Given the description of an element on the screen output the (x, y) to click on. 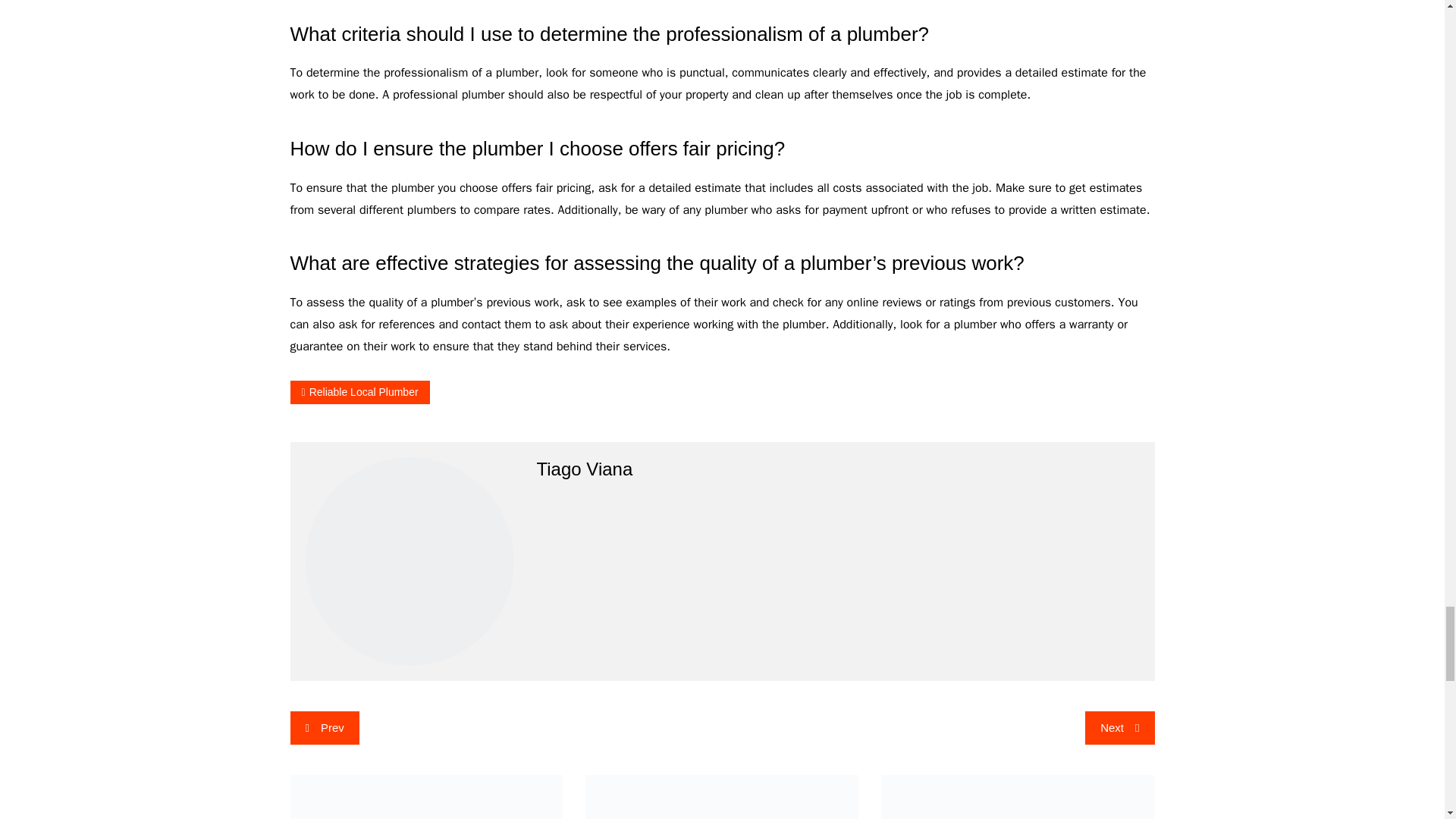
Reliable Local Plumber (359, 392)
Prev (323, 727)
Next (1119, 727)
